Given the description of an element on the screen output the (x, y) to click on. 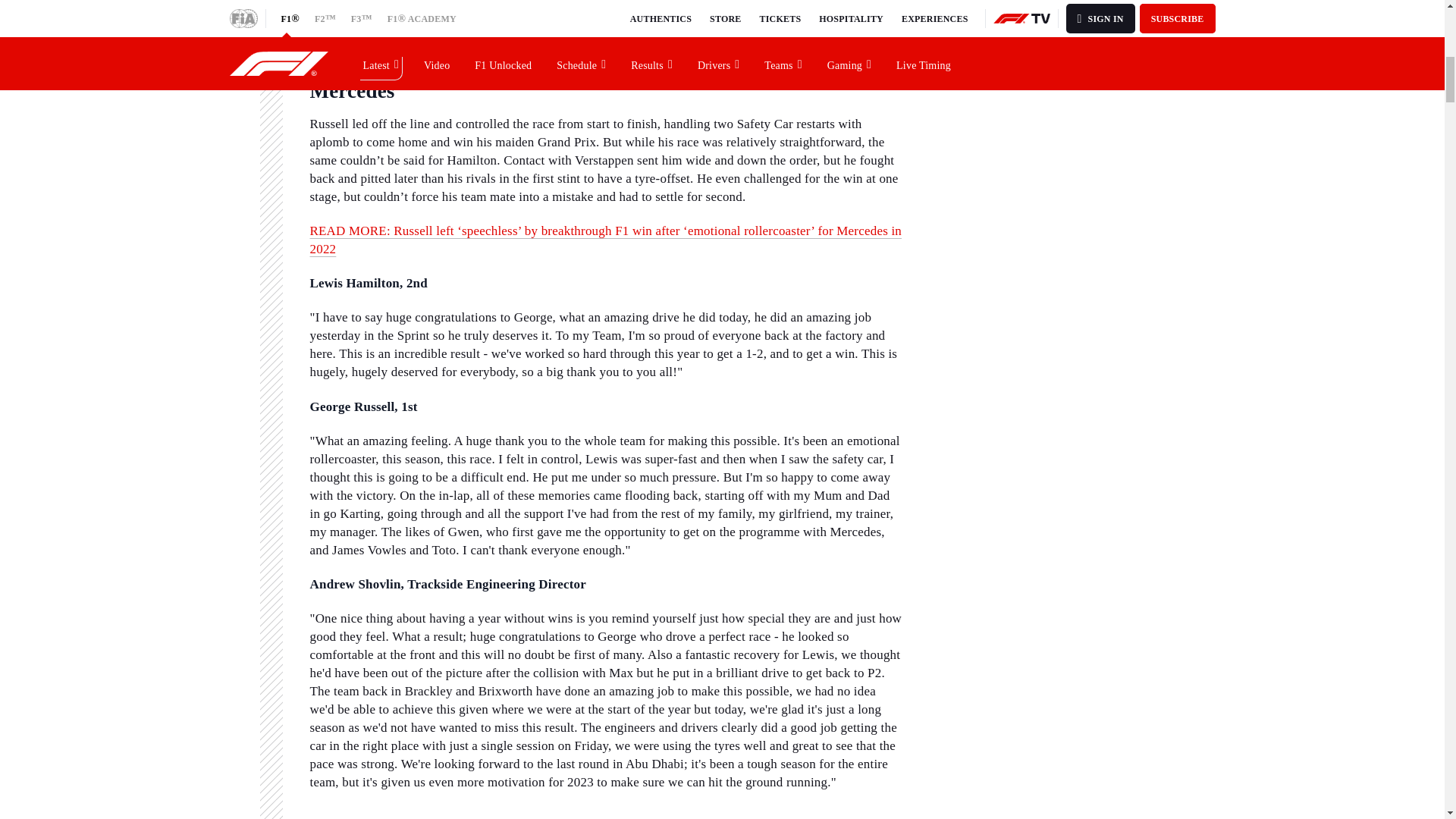
Discover more news (1018, 32)
